Given the description of an element on the screen output the (x, y) to click on. 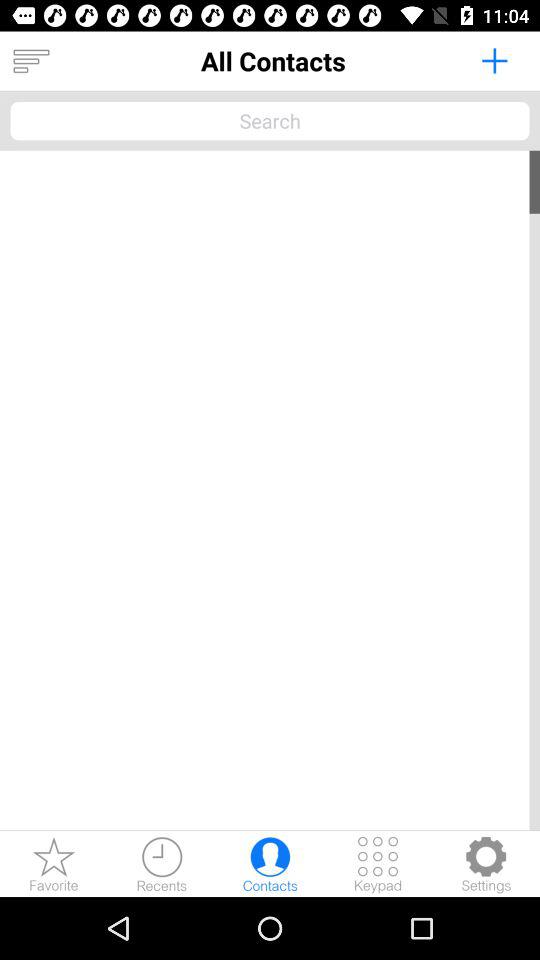
menu options (31, 61)
